Given the description of an element on the screen output the (x, y) to click on. 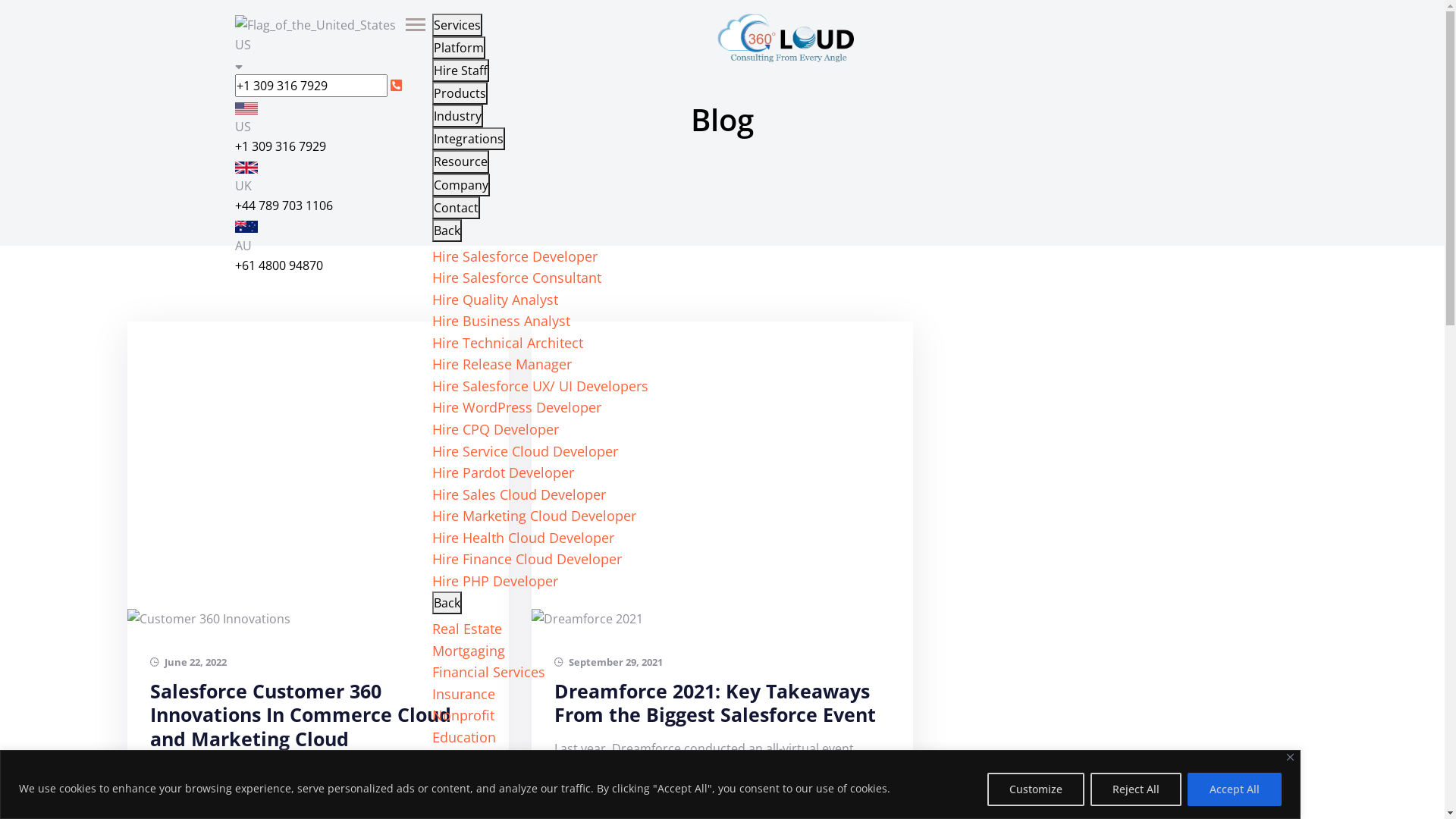
Hire Finance Cloud Developer Element type: text (526, 558)
Hire Salesforce Consultant Element type: text (516, 277)
Resource Element type: text (460, 161)
Hire Sales Cloud Developer Element type: text (518, 494)
Hire CPQ Developer Element type: text (495, 429)
Products Element type: text (459, 92)
Hire Salesforce Developer Element type: text (514, 256)
June 22, 2022 Element type: text (188, 661)
Company Element type: text (460, 184)
Hire Release Manager Element type: text (501, 363)
Services Element type: text (457, 24)
Hire Marketing Cloud Developer Element type: text (534, 515)
Platform Element type: text (458, 47)
Hire Staff Element type: text (460, 70)
Hire PHP Developer Element type: text (495, 580)
Education Element type: text (463, 737)
Back Element type: text (446, 230)
Hire Service Cloud Developer Element type: text (525, 450)
call-icon Element type: hover (395, 84)
Retail Element type: text (449, 780)
Mortgaging Element type: text (468, 650)
Insurance Element type: text (463, 693)
Industry Element type: text (457, 115)
Hire Business Analyst Element type: text (501, 320)
Financial Services Element type: text (488, 671)
Back Element type: text (446, 602)
September 29, 2021 Element type: text (608, 661)
Integrations Element type: text (468, 138)
Contact Element type: text (456, 207)
Hire Salesforce UX/ UI Developers Element type: text (540, 385)
Accept All Element type: text (1234, 788)
Nonprofit Element type: text (463, 715)
Real Estate Element type: text (467, 628)
Reject All Element type: text (1135, 788)
Hire Pardot Developer Element type: text (503, 472)
Hire WordPress Developer Element type: text (516, 407)
Hire Health Cloud Developer Element type: text (523, 537)
Hire Quality Analyst Element type: text (495, 299)
Customize Element type: text (1035, 788)
Healthcare Element type: text (466, 801)
eCommerce Element type: text (470, 758)
Hire Technical Architect Element type: text (507, 342)
